Given the description of an element on the screen output the (x, y) to click on. 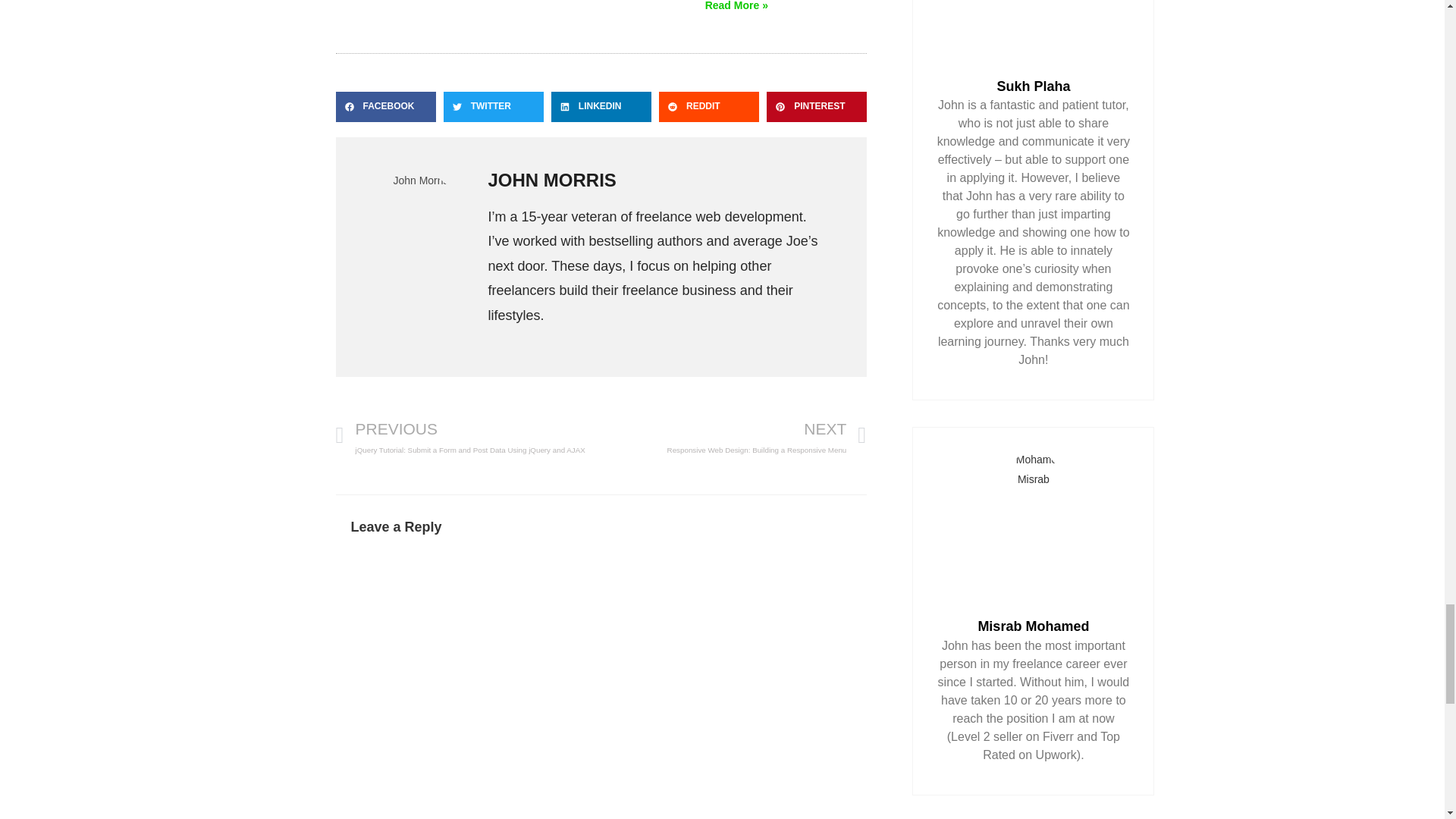
Comment Form (600, 685)
